Given the description of an element on the screen output the (x, y) to click on. 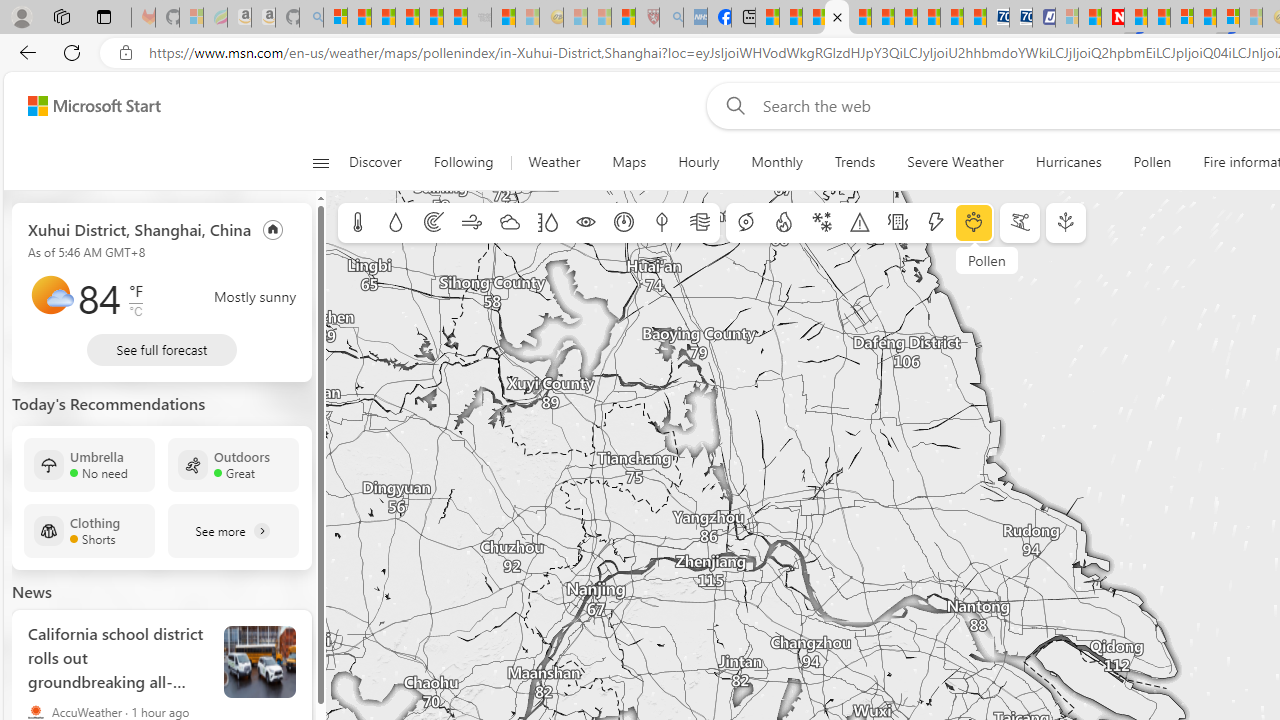
E-tree (1066, 223)
Hourly (698, 162)
Monthly (776, 162)
Xuhui District, Shanghai, China (140, 228)
Ski conditions (1020, 223)
Fire information (783, 223)
